Given the description of an element on the screen output the (x, y) to click on. 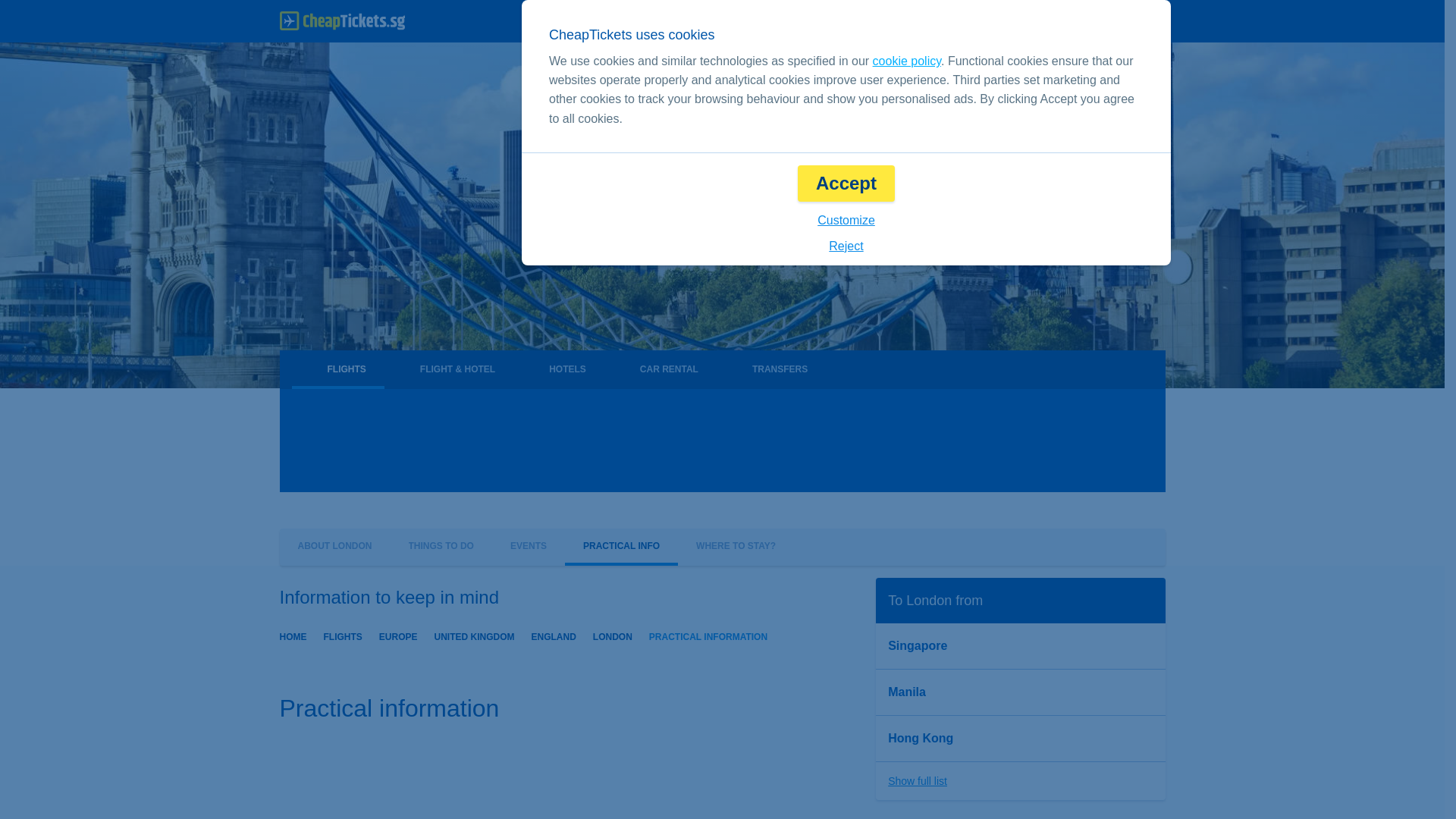
EUROPE (397, 635)
FLIGHTS (342, 635)
ENGLAND (553, 635)
Accept (846, 183)
LONDON (611, 635)
HOME (292, 635)
English (902, 21)
UNITED KINGDOM (474, 635)
cookie policy (906, 60)
My Account (1116, 21)
